Given the description of an element on the screen output the (x, y) to click on. 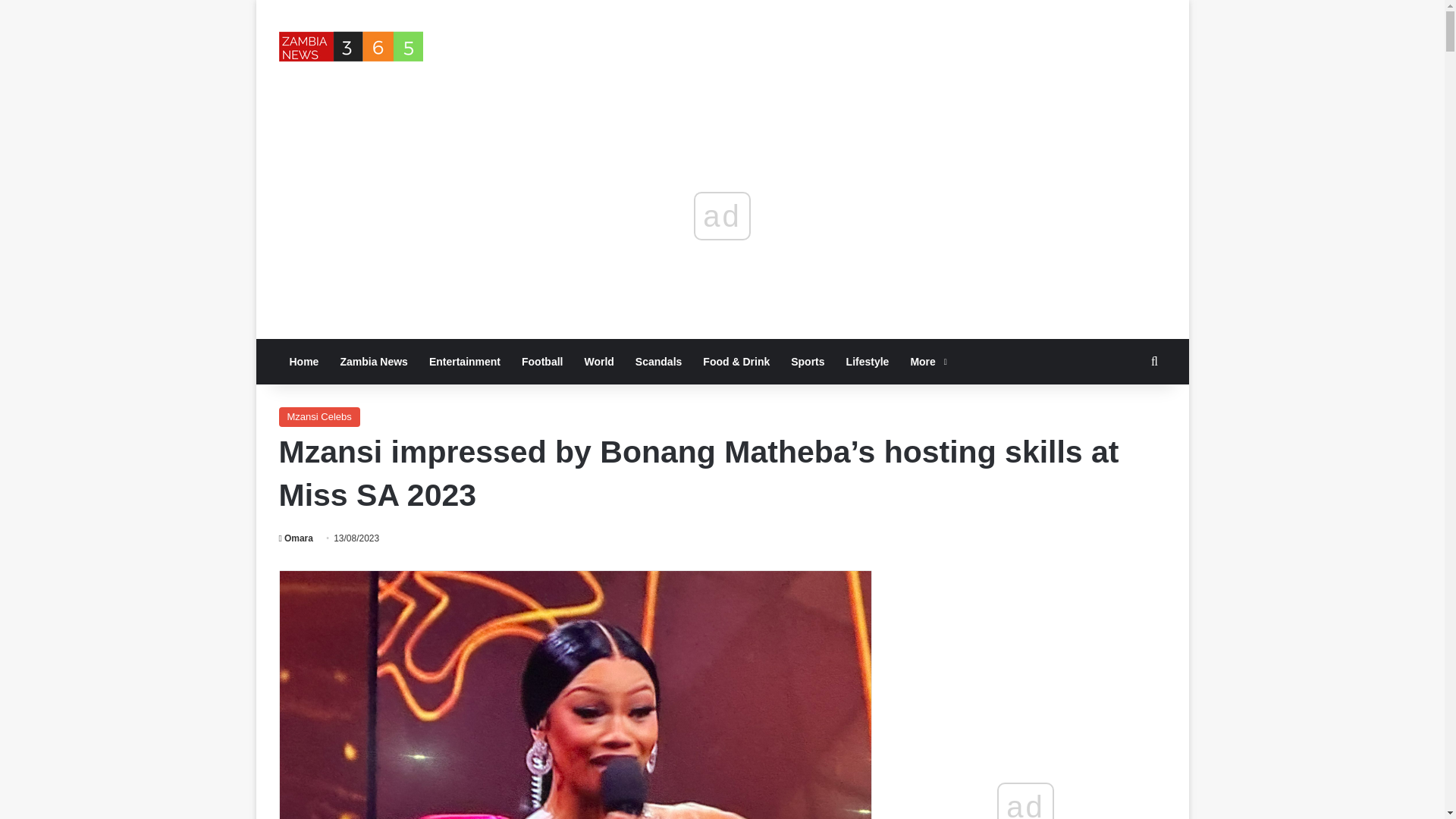
Zambia News (373, 361)
Mzansi Celebs (319, 416)
Scandals (658, 361)
Entertainment (465, 361)
Omara (296, 538)
Lifestyle (867, 361)
Omara (296, 538)
Sports (807, 361)
Zambia News365 (351, 46)
World (598, 361)
Football (542, 361)
Home (304, 361)
More (926, 361)
